Given the description of an element on the screen output the (x, y) to click on. 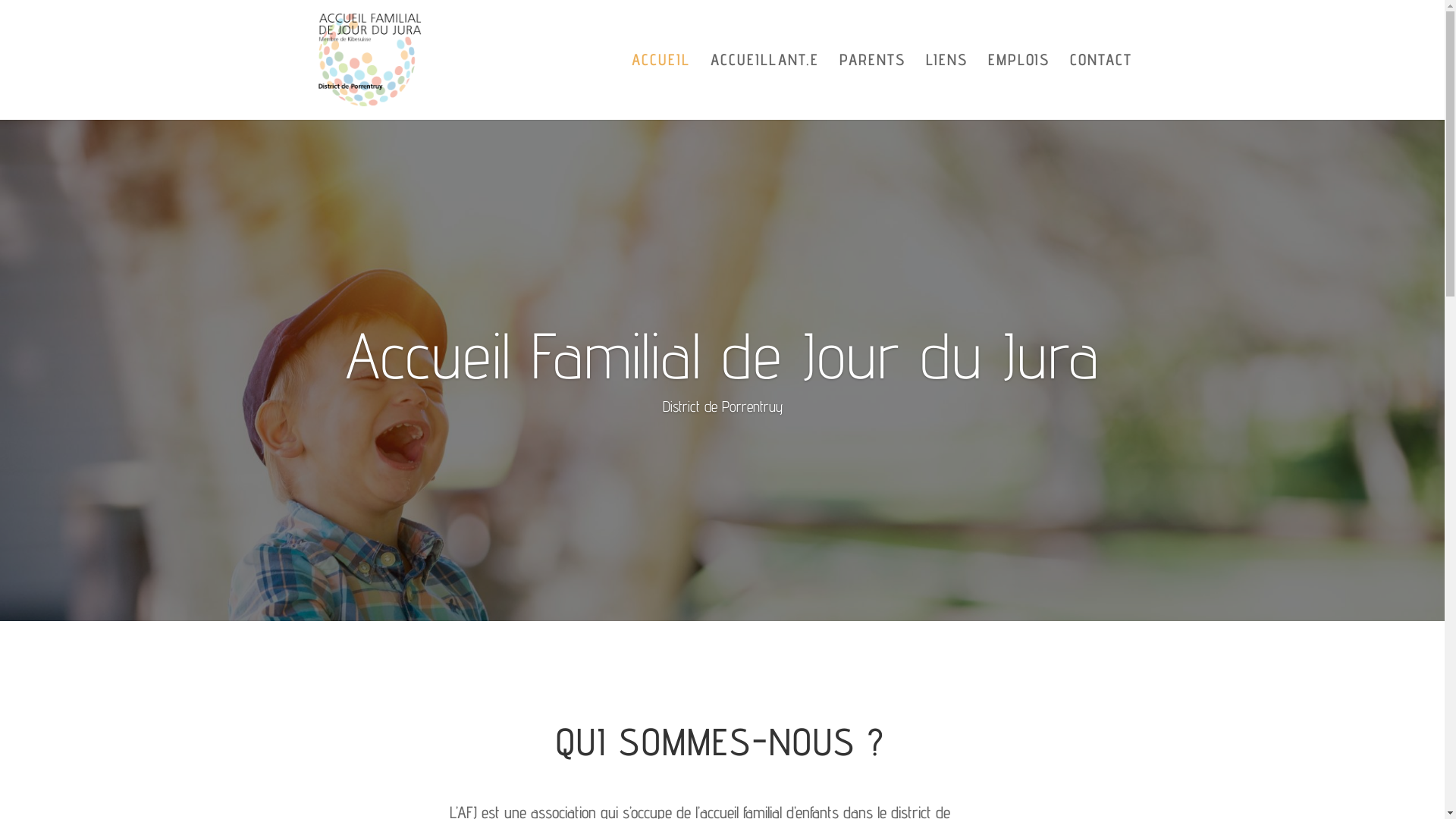
EMPLOIS Element type: text (1017, 86)
PARENTS Element type: text (871, 86)
ACCUEILLANT.E Element type: text (763, 86)
Accueil Familial de Jour du Jura Element type: text (722, 354)
LIENS Element type: text (945, 86)
ACCUEIL Element type: text (659, 86)
CONTACT Element type: text (1100, 86)
